Given the description of an element on the screen output the (x, y) to click on. 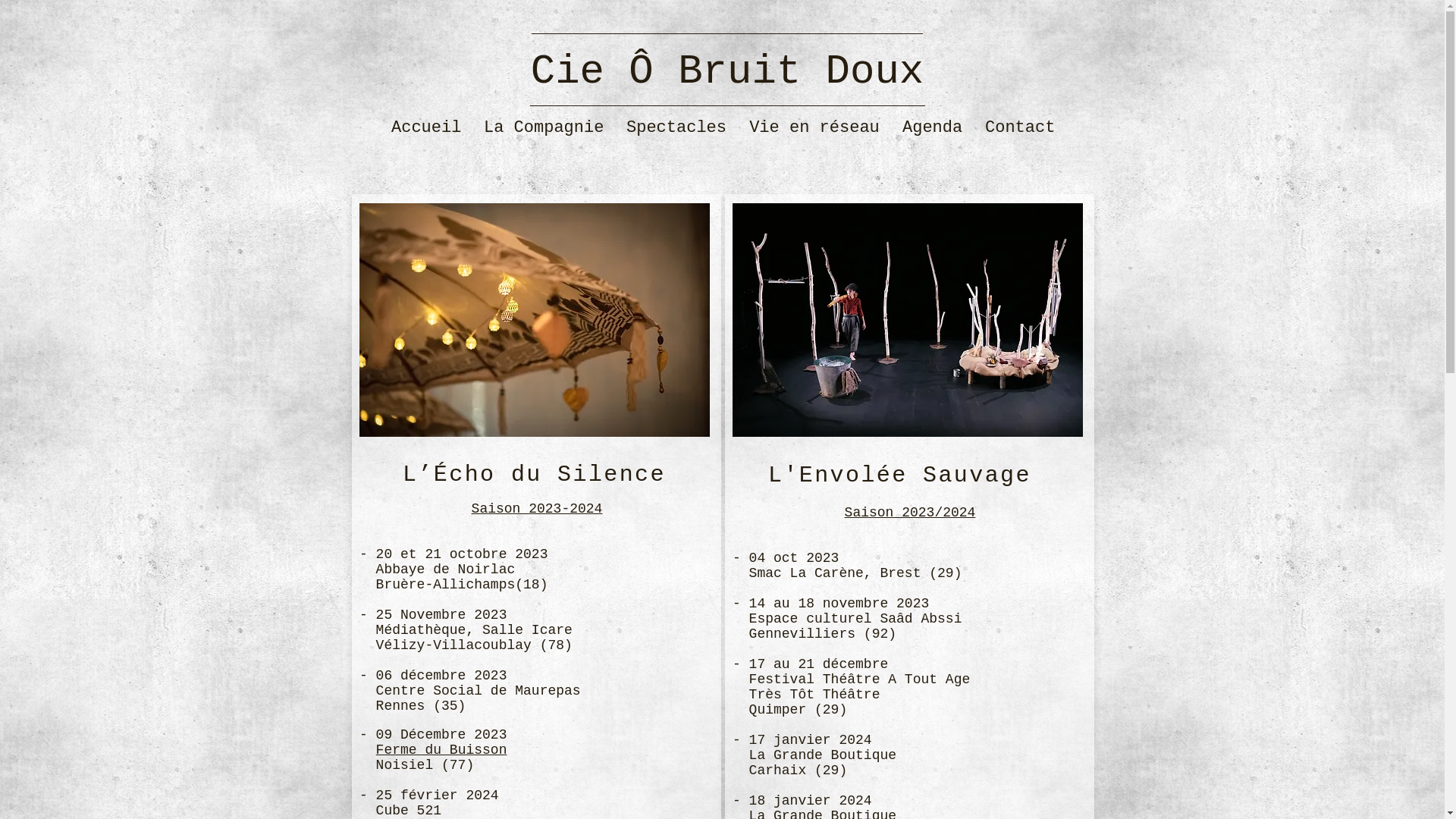
La Compagnie Element type: text (543, 128)
Accueil Element type: text (425, 128)
Ferme du Buisson Element type: text (441, 749)
Agenda Element type: text (932, 128)
Spectacles Element type: text (676, 128)
Contact Element type: text (1019, 128)
